Given the description of an element on the screen output the (x, y) to click on. 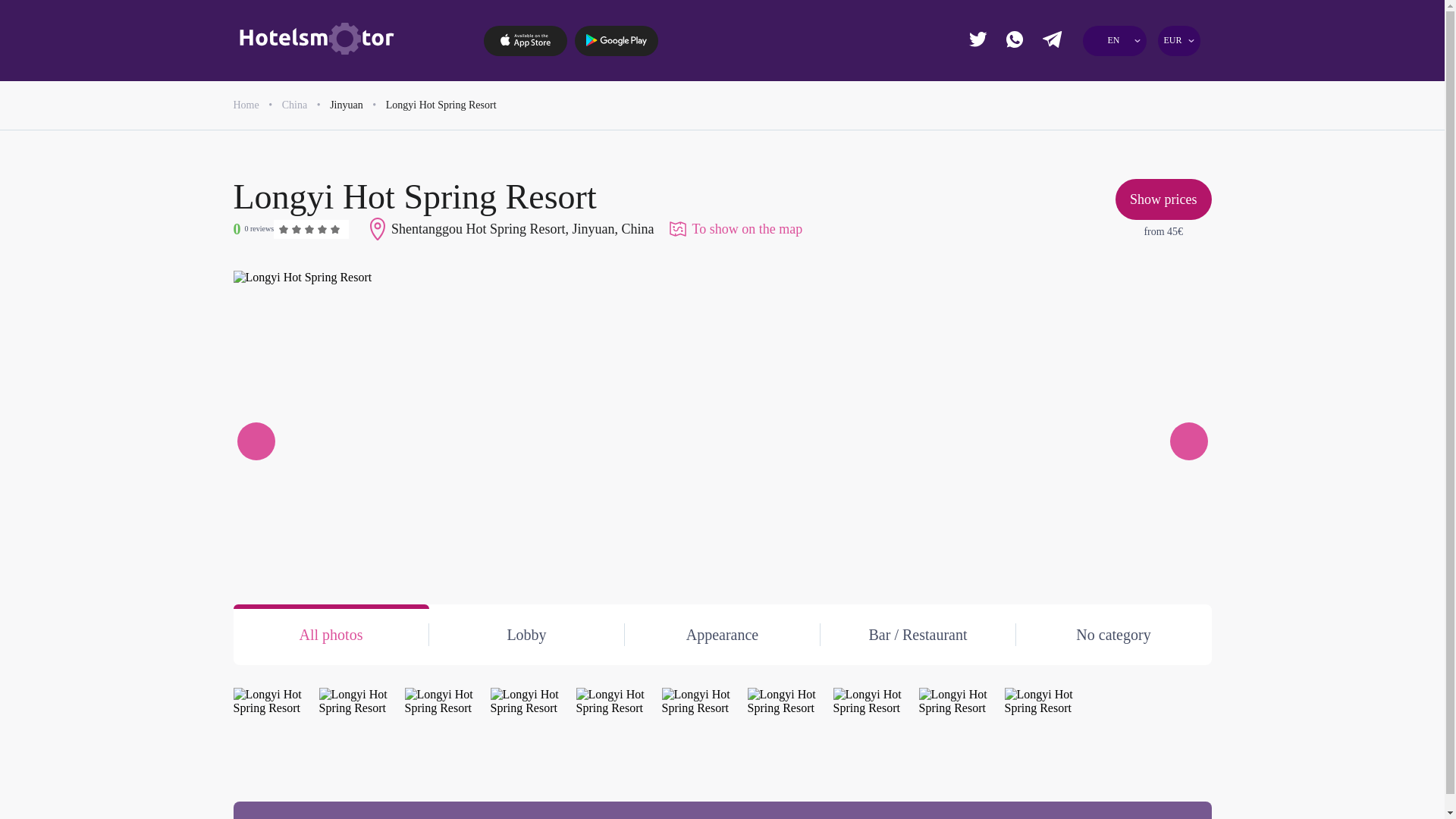
nok (1165, 104)
usd (1055, 188)
pln (1055, 131)
try (1165, 161)
czk (1165, 76)
dkk (1055, 104)
eur (1055, 76)
rub (1165, 131)
sek (1110, 161)
jpy (1110, 104)
ron (1110, 131)
gbp (1110, 76)
krw (1055, 161)
